Given the description of an element on the screen output the (x, y) to click on. 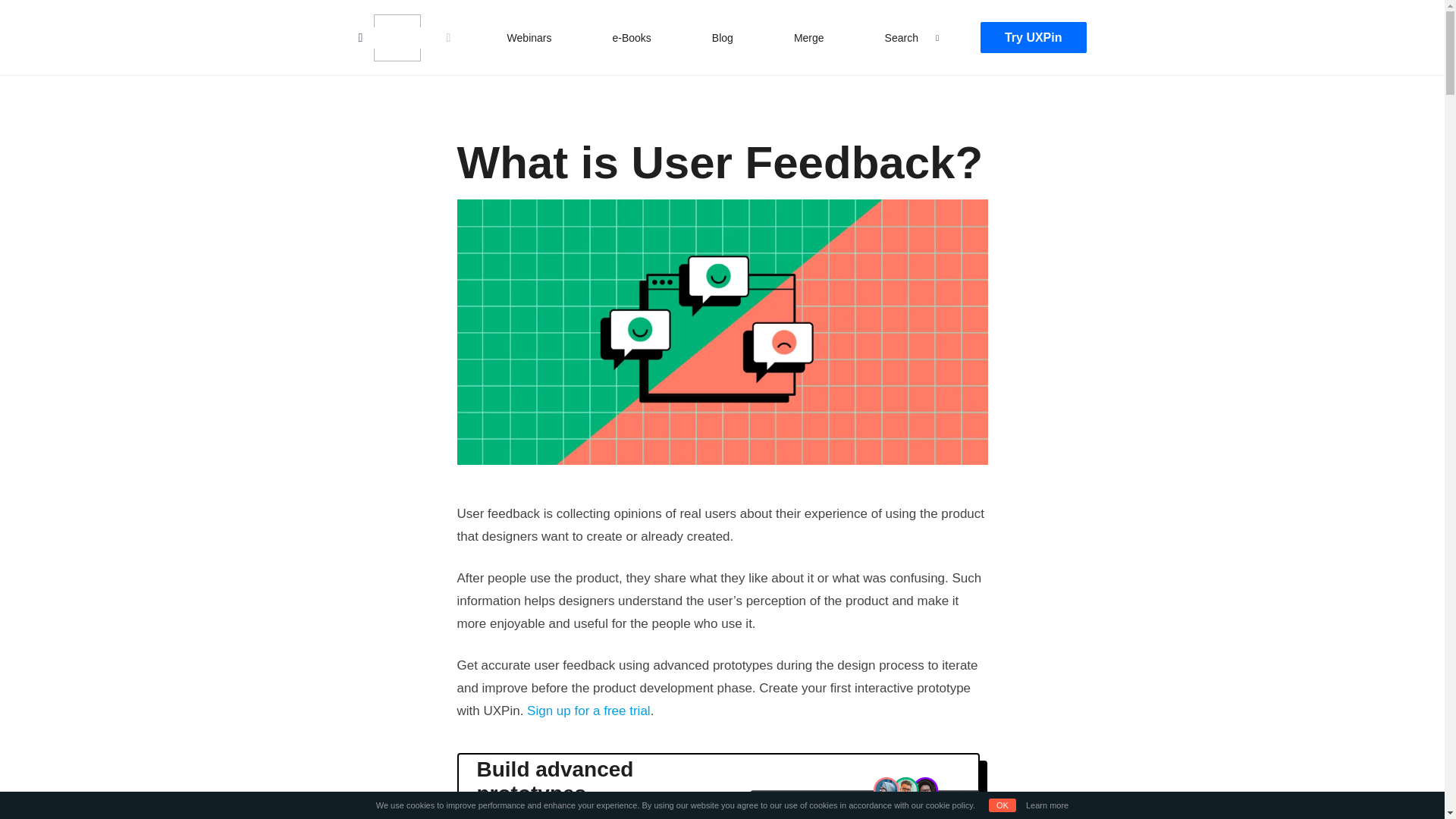
Search (901, 37)
e-Books (631, 37)
Studio by UXPin (396, 37)
Webinars (529, 37)
Studio by UXPin (396, 37)
Search (27, 13)
Blog (722, 37)
Merge (808, 37)
Sign up for a free trial (588, 710)
Try UXPin (1032, 37)
